Given the description of an element on the screen output the (x, y) to click on. 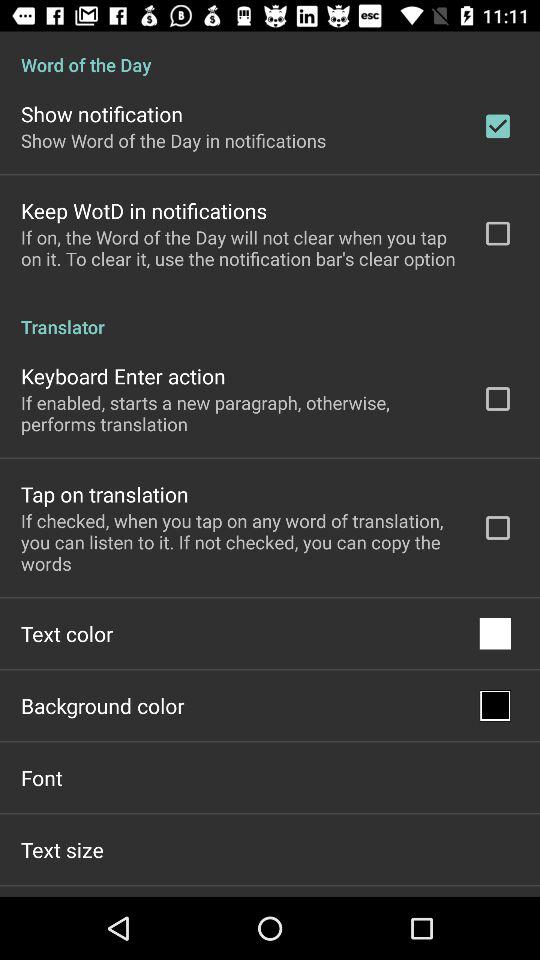
turn on app below the font (62, 849)
